Given the description of an element on the screen output the (x, y) to click on. 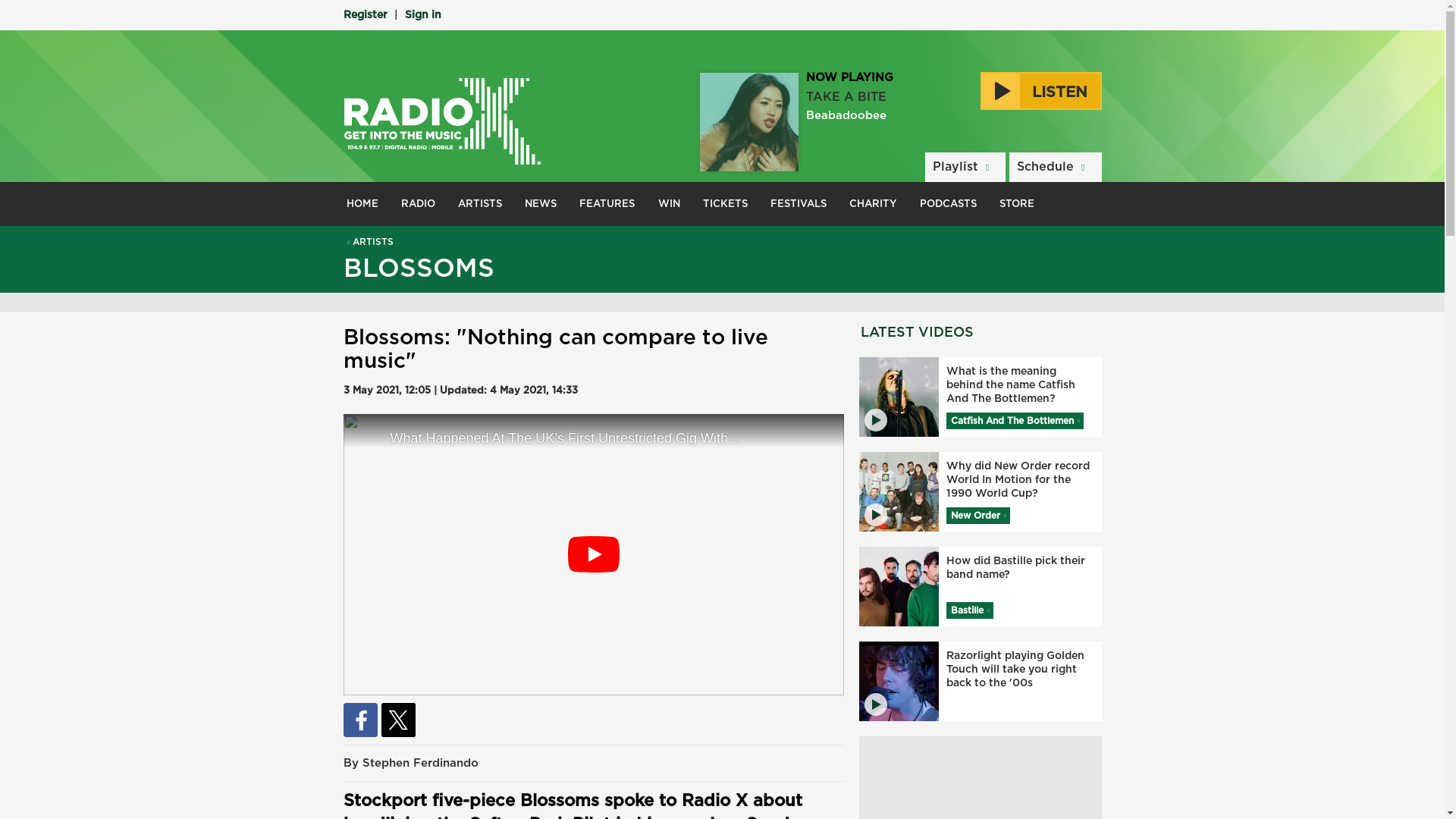
HOME (362, 203)
Schedule (1054, 166)
STORE (1016, 203)
WIN (668, 203)
Radio X (441, 120)
FESTIVALS (798, 203)
TICKETS (724, 203)
RADIO (418, 203)
ARTISTS (479, 203)
ARTISTS (367, 241)
Sign in (422, 14)
Register (364, 14)
Catfish And The Bottlemen (1014, 420)
Playlist (965, 166)
